Given the description of an element on the screen output the (x, y) to click on. 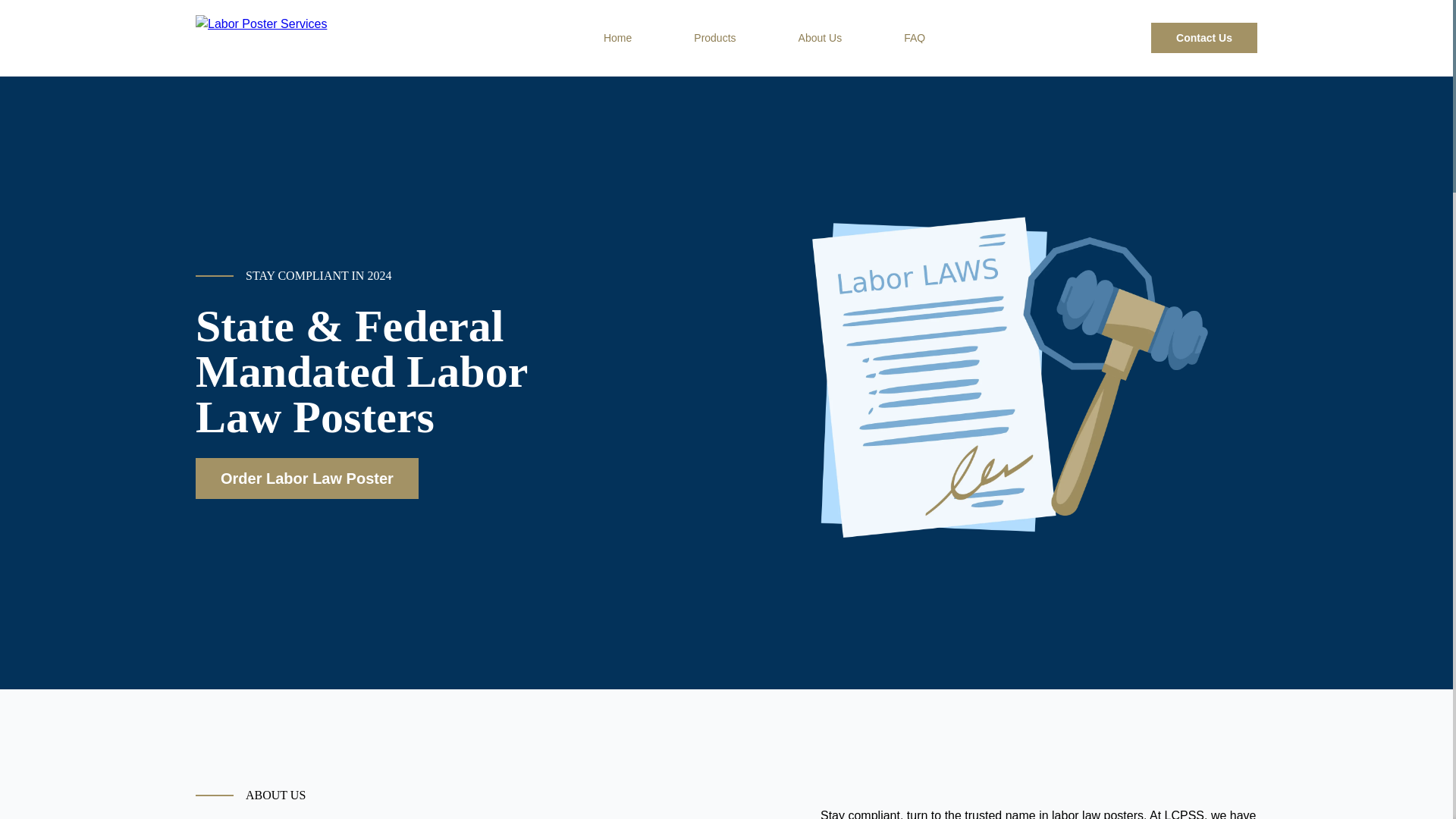
About Us (820, 37)
Home (617, 37)
Products (714, 37)
Contact Us (1204, 37)
Order Labor Law Poster (307, 477)
FAQ (914, 37)
